Given the description of an element on the screen output the (x, y) to click on. 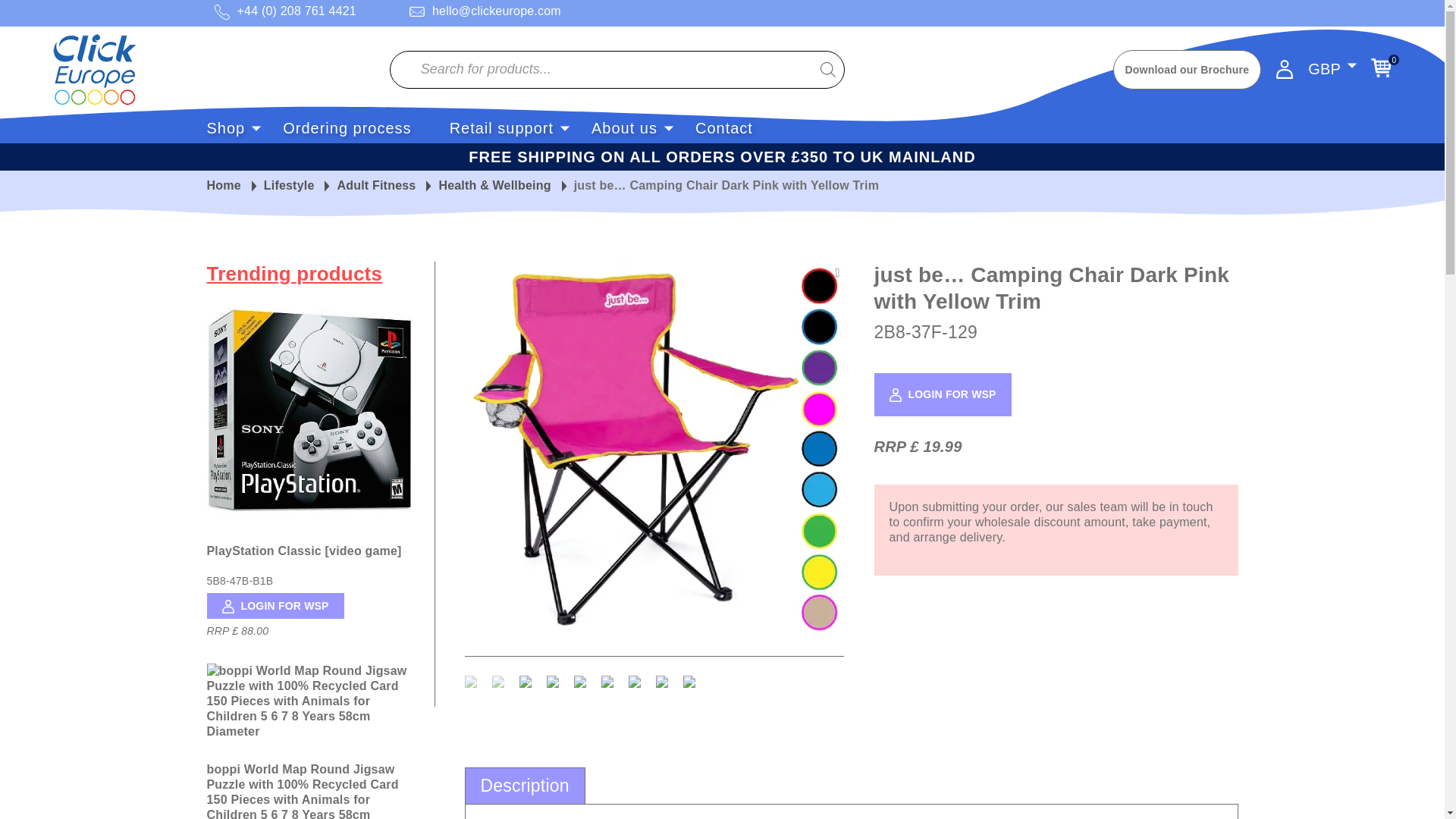
Contact (723, 127)
Retail support (501, 127)
Shop (225, 127)
View your shopping cart (1381, 67)
Ordering process (346, 127)
0 (1381, 67)
Download our Brochure (1187, 69)
About us (624, 127)
GBP (1324, 69)
